Given the description of an element on the screen output the (x, y) to click on. 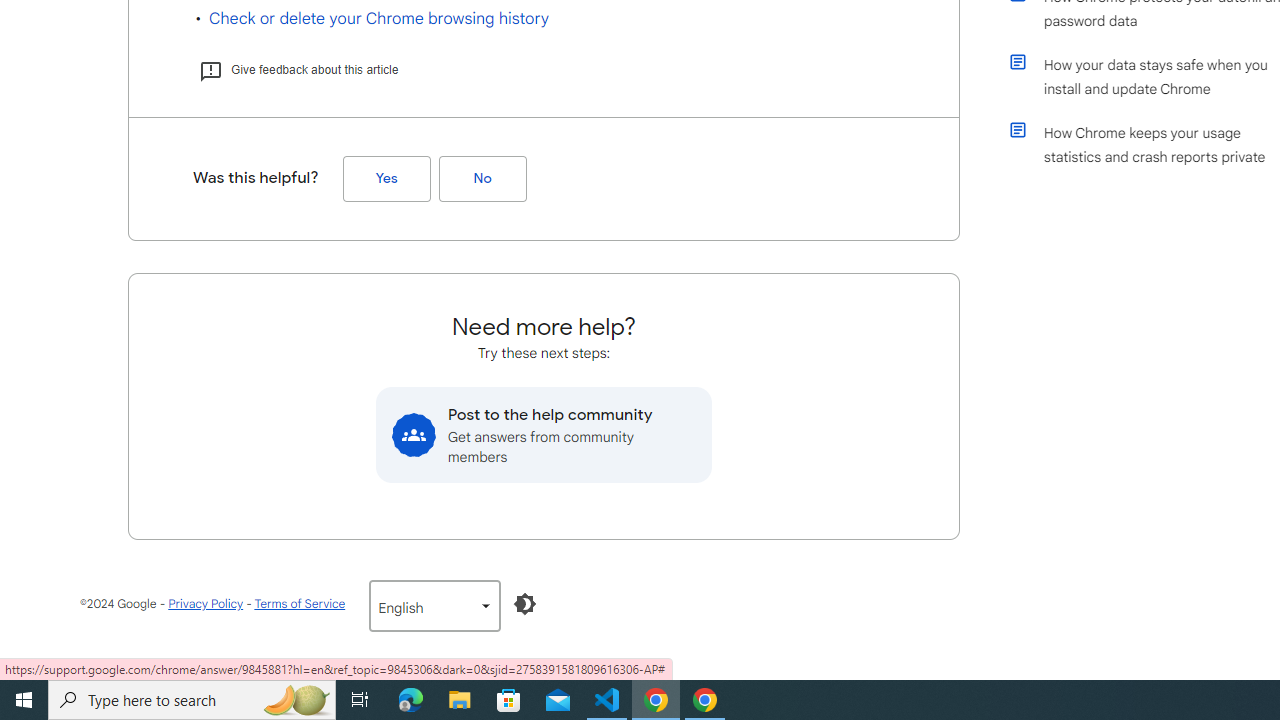
Check or delete your Chrome browsing history (379, 18)
Give feedback about this article (298, 69)
Terms of Service (299, 603)
No (Was this helpful?) (482, 179)
Enable Dark Mode (525, 603)
Yes (Was this helpful?) (386, 179)
Privacy Policy (205, 603)
